Given the description of an element on the screen output the (x, y) to click on. 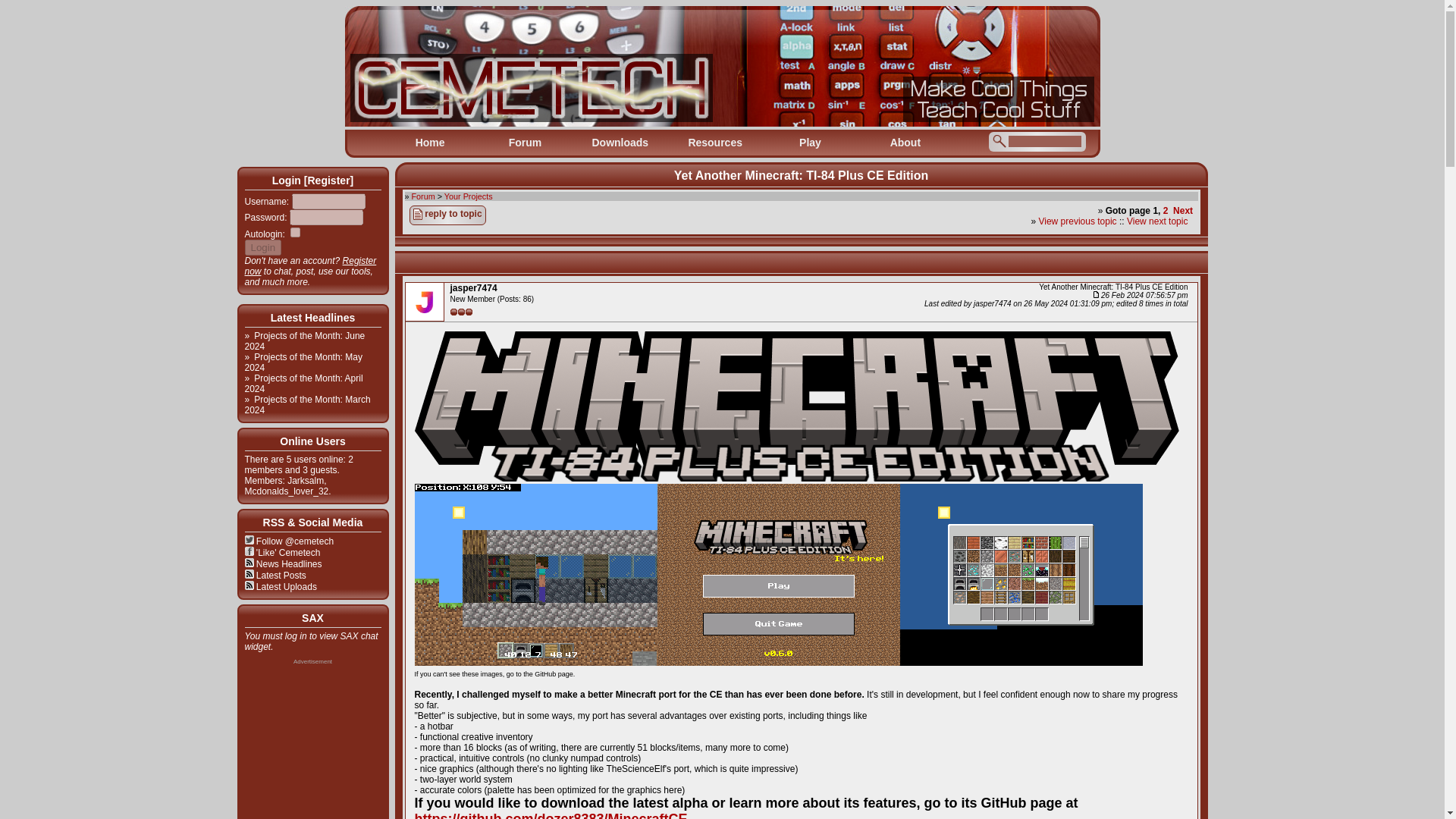
Register (328, 180)
Next (1182, 210)
on (294, 232)
Forum (423, 195)
Home (430, 142)
Yet Another Minecraft: TI-84 Plus CE Edition (801, 174)
Register now (309, 265)
Login (262, 247)
26 Feb 2024 07:56:57 pm (1140, 295)
View previous topic (1077, 221)
About (905, 142)
View next topic (1157, 221)
reply to topic (447, 214)
Resources (714, 142)
Play (810, 142)
